Given the description of an element on the screen output the (x, y) to click on. 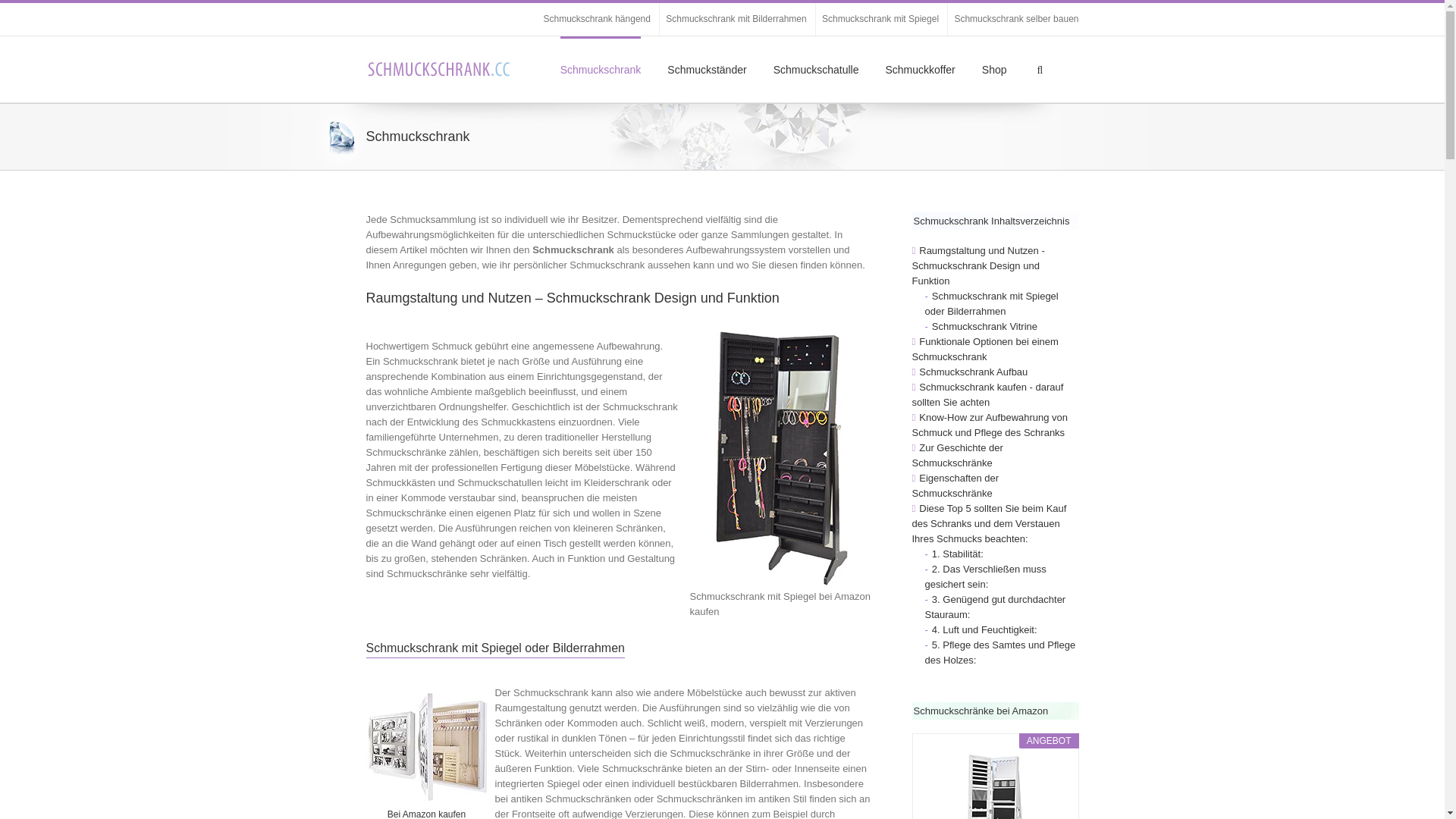
Schmuckkoffer Element type: text (919, 68)
5. Pflege des Samtes und Pflege des Holzes: Element type: text (1000, 652)
Schmuckschrank Aufbau Element type: text (977, 371)
Schmuckschrank selber bauen Element type: text (1015, 18)
Schmuckschrank kaufen - darauf sollten Sie achten Element type: text (987, 394)
Shop Element type: text (994, 68)
Schmuckschrank mit Bilderrahmen Element type: text (735, 18)
Schmuckschrank Vitrine Element type: text (987, 326)
4. Luft und Feuchtigkeit: Element type: text (987, 629)
Funktionale Optionen bei einem Schmuckschrank Element type: text (984, 349)
Schmuckschrank Element type: text (600, 68)
Schmuckschatulle Element type: text (816, 68)
Schmuckschrank mit Spiegel Element type: text (880, 18)
Schmuckschrank mit Spiegel oder Bilderrahmen Element type: text (991, 303)
